Given the description of an element on the screen output the (x, y) to click on. 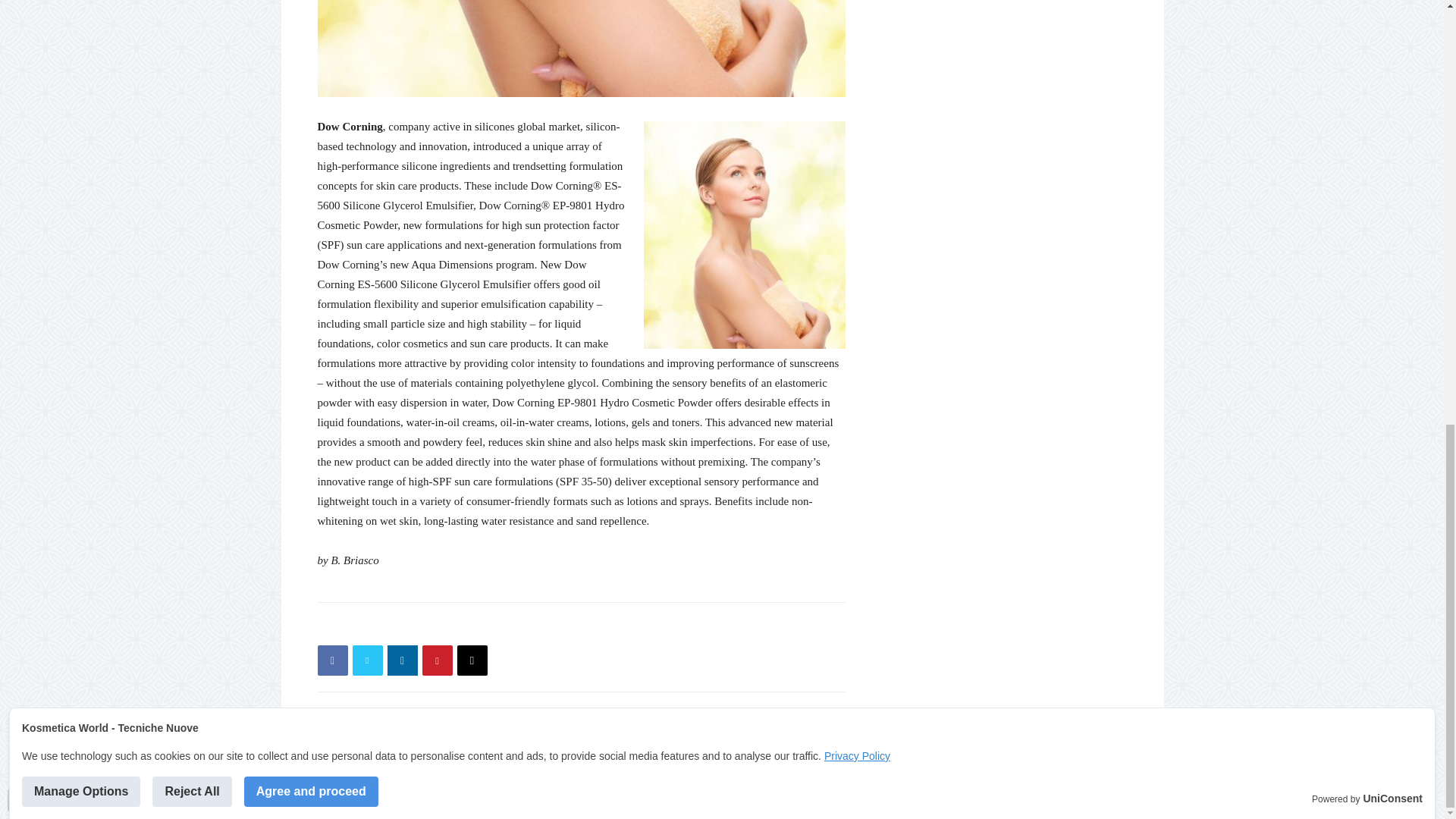
beautiful woman in towel (580, 48)
